Given the description of an element on the screen output the (x, y) to click on. 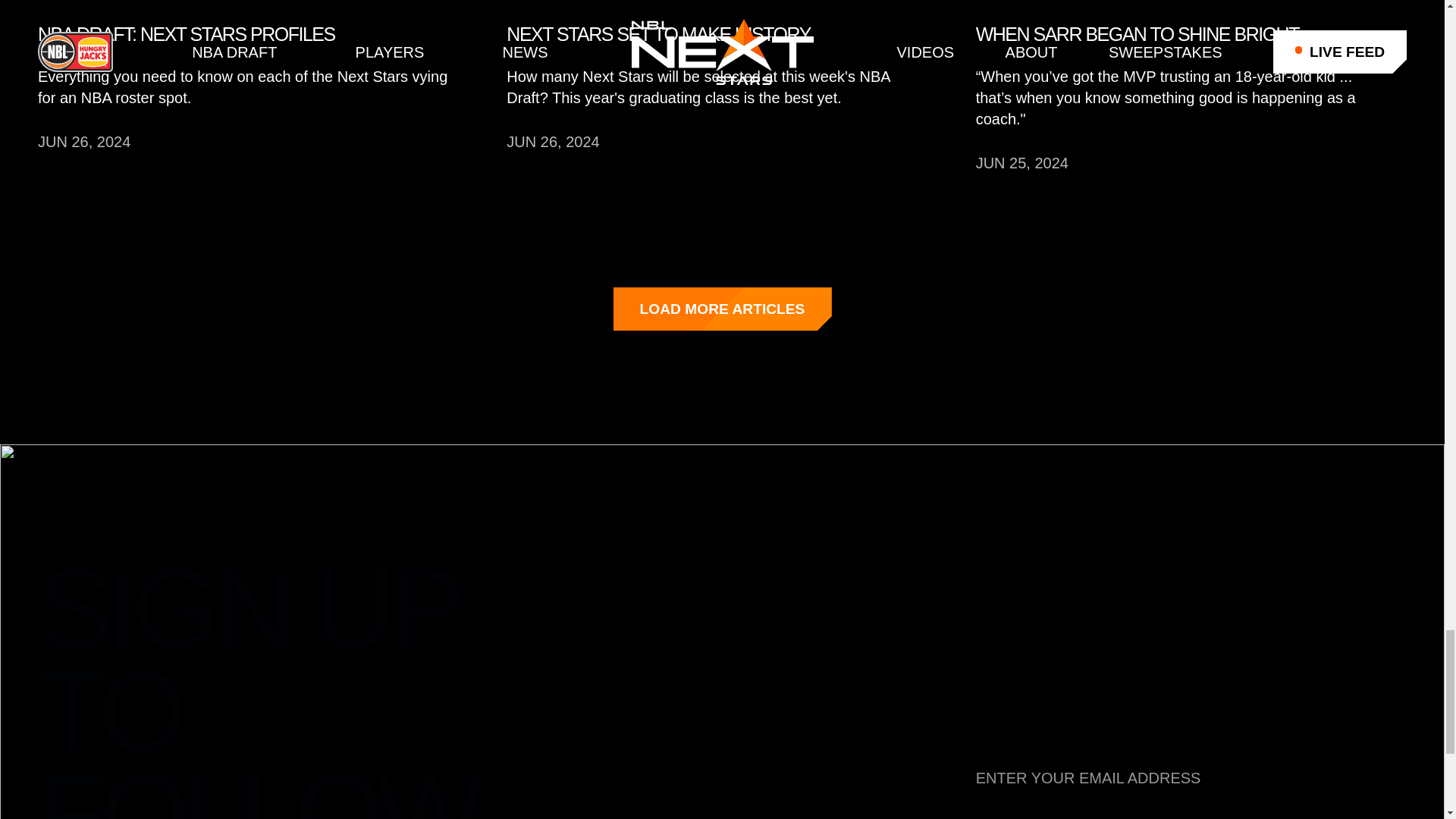
LOAD MORE ARTICLES (721, 309)
